Given the description of an element on the screen output the (x, y) to click on. 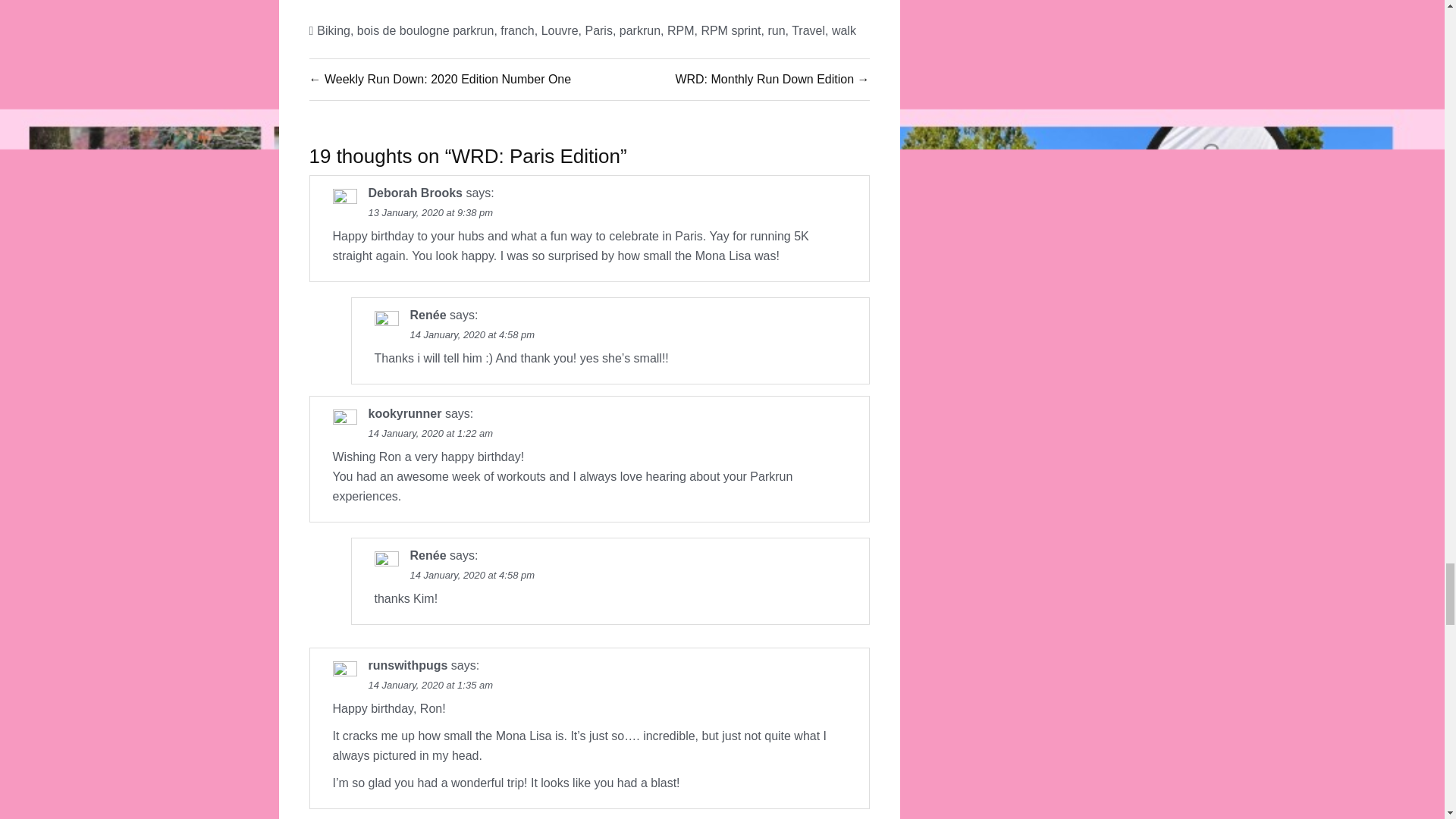
RPM (680, 30)
kookyrunner (405, 413)
Paris (598, 30)
run (775, 30)
14 January, 2020 at 1:22 am (430, 432)
runswithpugs (408, 665)
RPM sprint (730, 30)
14 January, 2020 at 4:58 pm (471, 334)
Biking (333, 30)
14 January, 2020 at 1:35 am (430, 685)
Travel (808, 30)
walk (843, 30)
14 January, 2020 at 4:58 pm (471, 574)
franch (517, 30)
parkrun (640, 30)
